Given the description of an element on the screen output the (x, y) to click on. 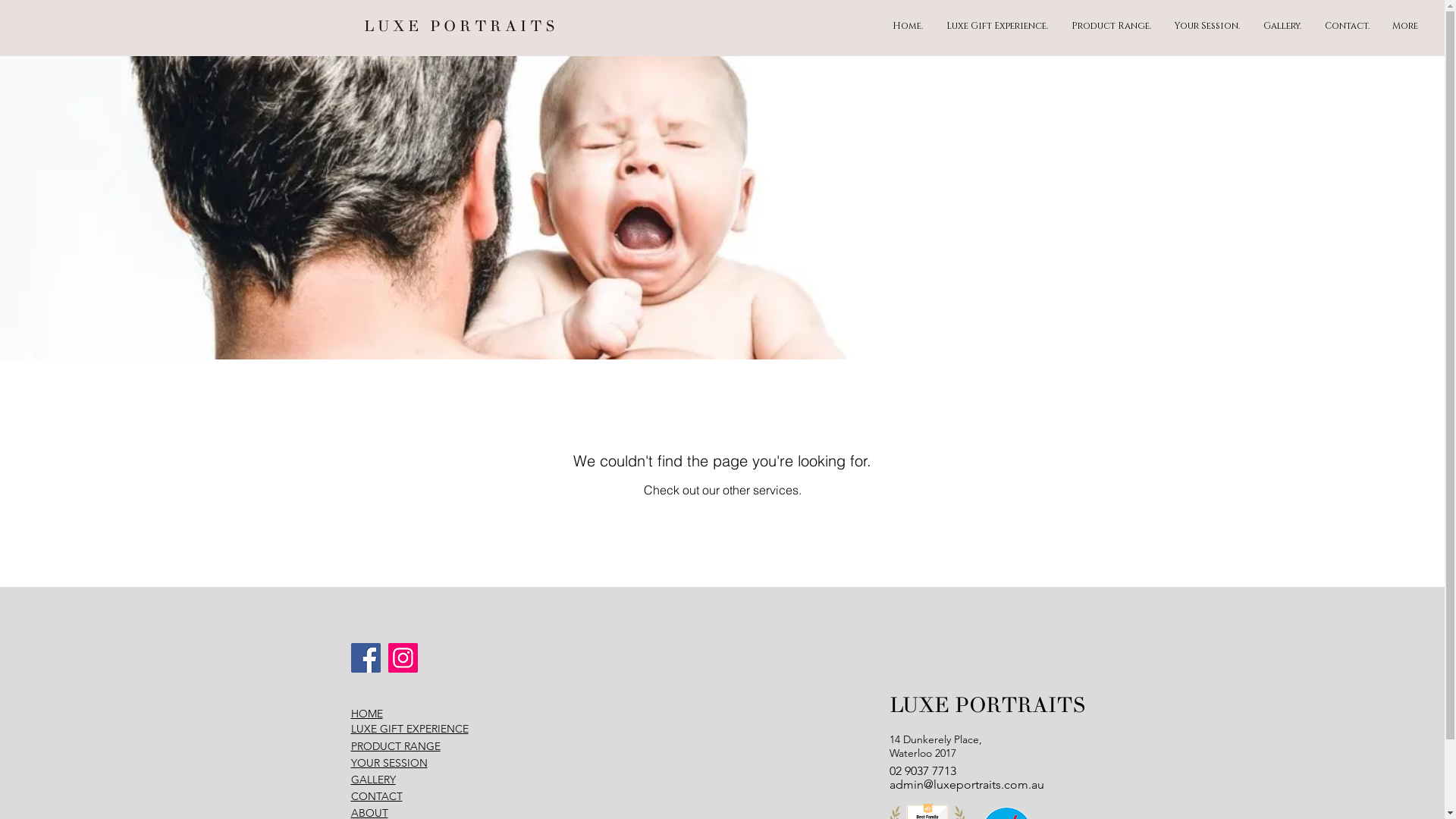
LUXE GIFT EXPERIENCE Element type: text (408, 728)
PRODUCT RANGE Element type: text (394, 746)
HOME Element type: text (366, 713)
L U X E   P O R T R A I T S  Element type: text (461, 25)
Product Range. Element type: text (1111, 25)
Contact. Element type: text (1346, 25)
GALLERY Element type: text (372, 779)
YOUR SESSION Element type: text (388, 762)
admin@luxeportraits.com.au Element type: text (965, 784)
Home. Element type: text (908, 25)
Luxe Gift Experience. Element type: text (997, 25)
Your Session. Element type: text (1207, 25)
Gallery. Element type: text (1282, 25)
CONTACT Element type: text (375, 796)
